Given the description of an element on the screen output the (x, y) to click on. 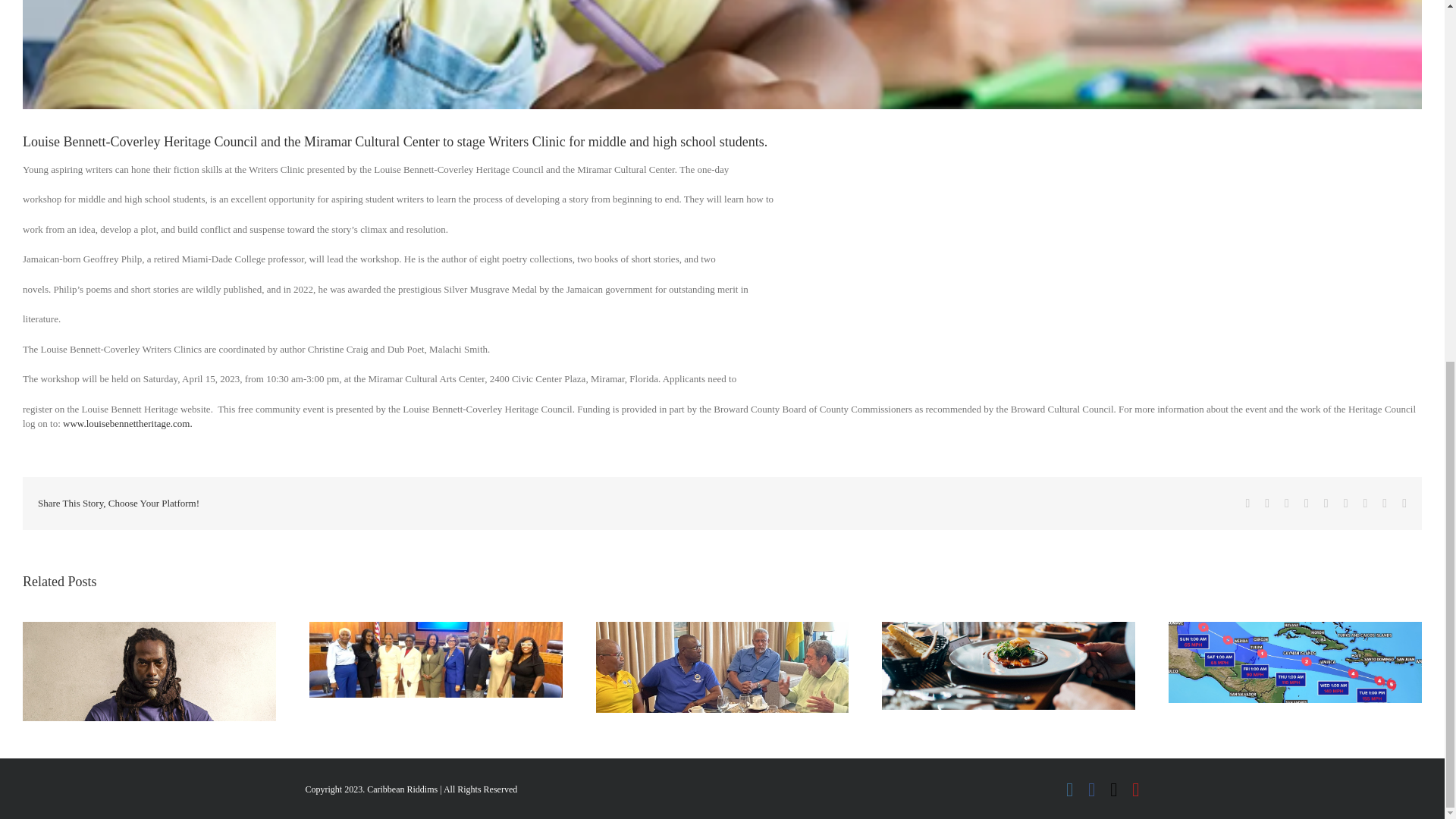
www.louisebennettheritage.com. (127, 423)
